Given the description of an element on the screen output the (x, y) to click on. 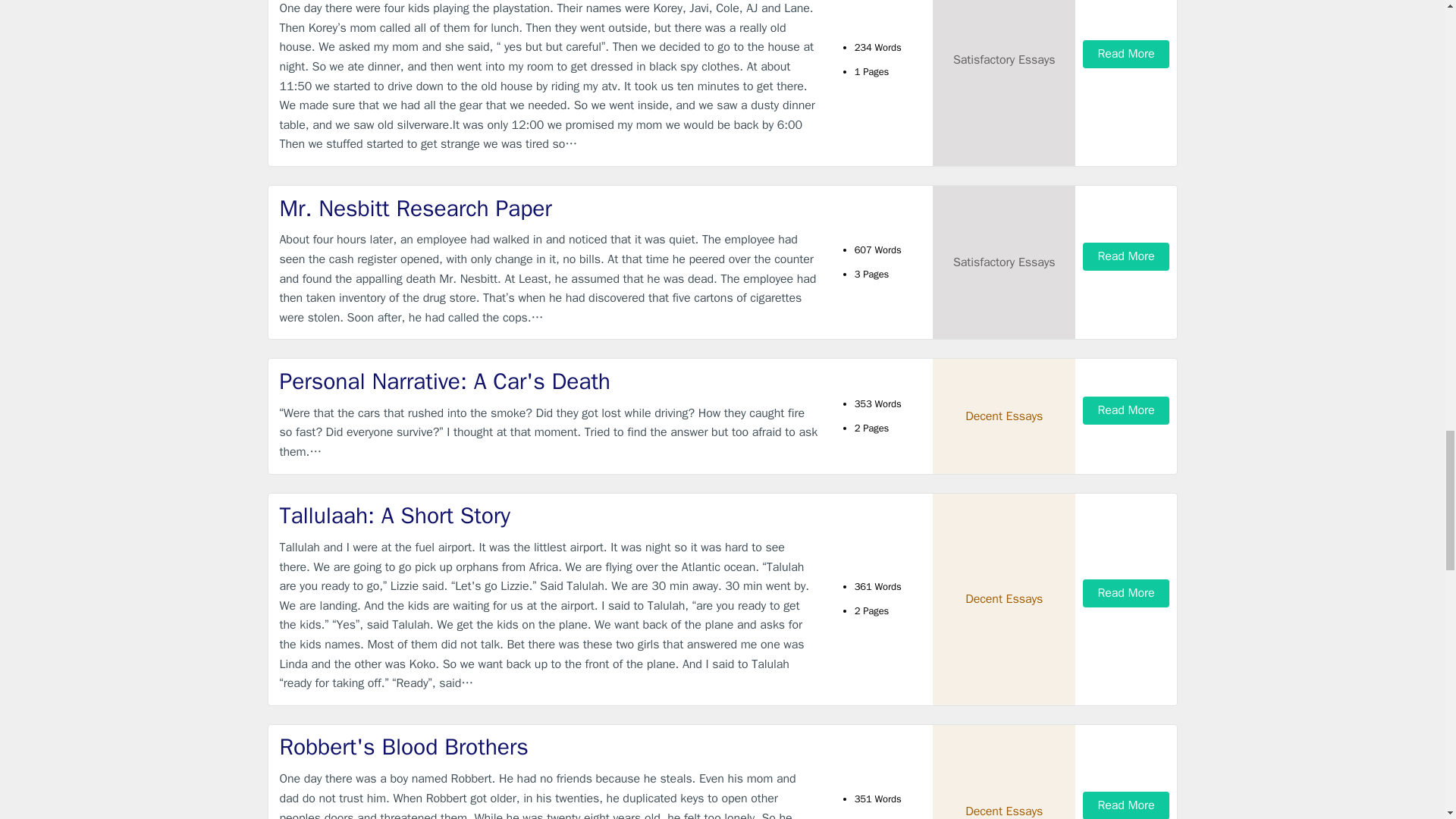
Read More (1126, 53)
